Given the description of an element on the screen output the (x, y) to click on. 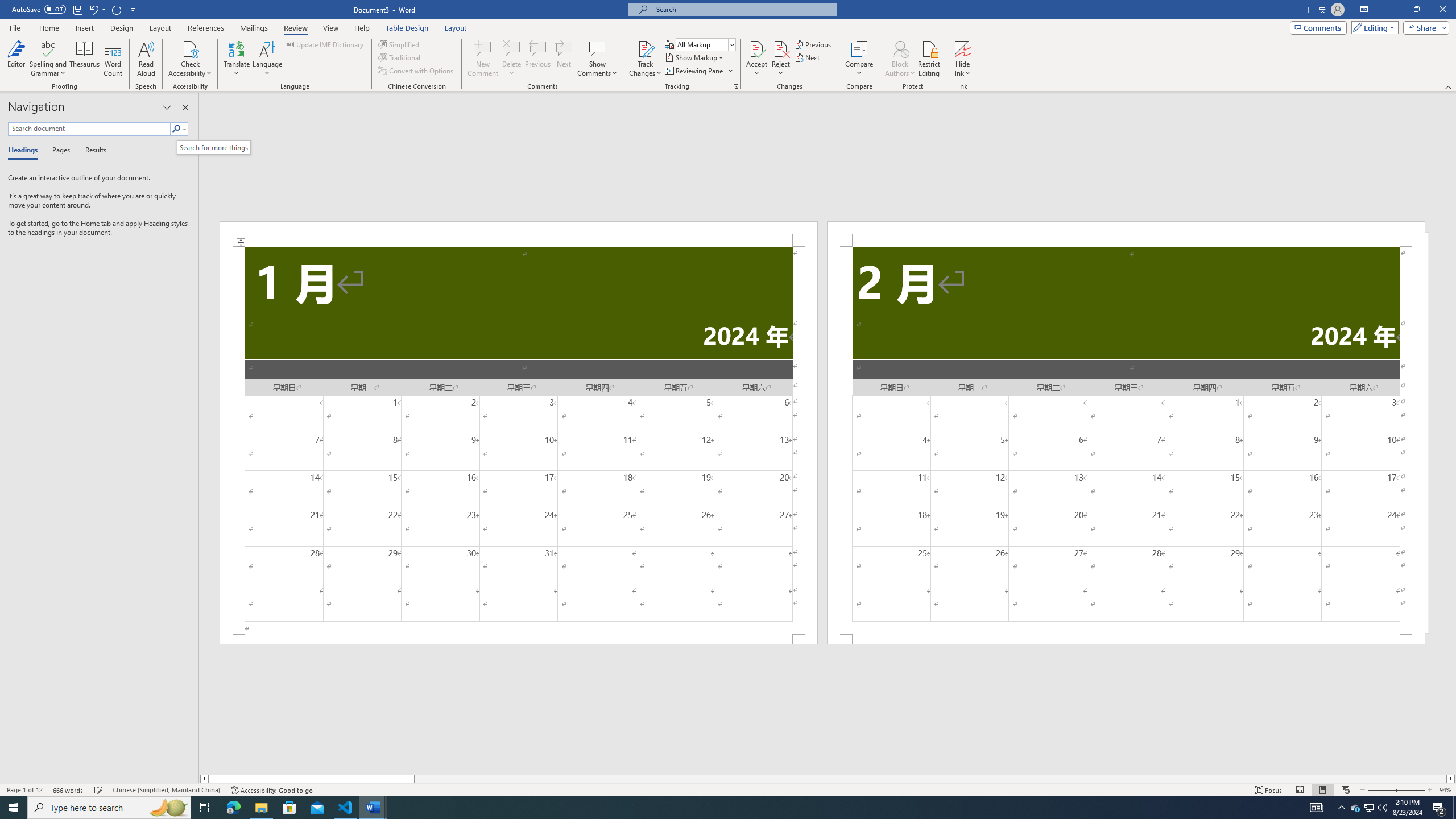
Accept and Move to Next (756, 48)
Change Tracking Options... (735, 85)
Compare (859, 58)
Next (808, 56)
